Given the description of an element on the screen output the (x, y) to click on. 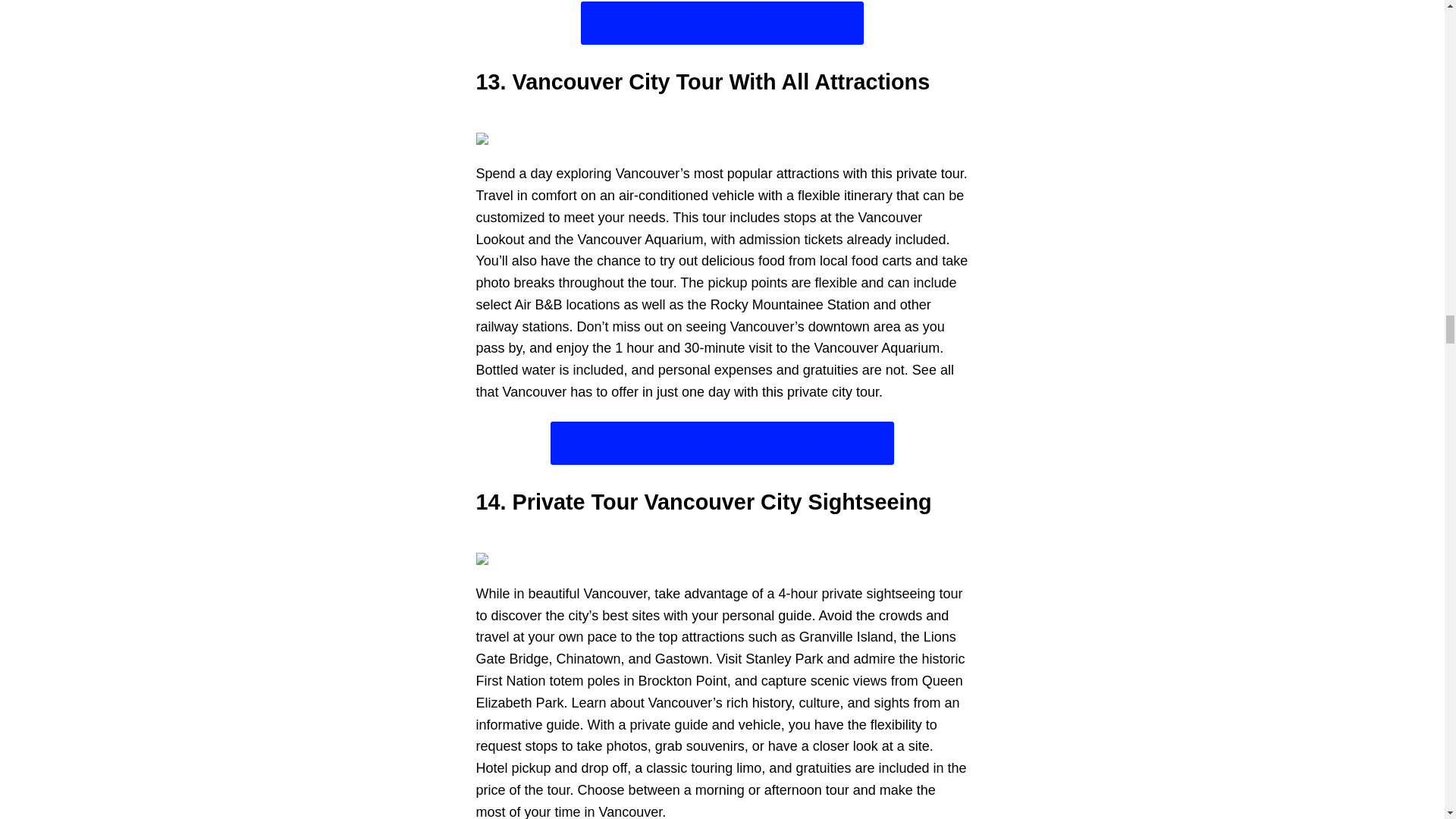
Check out Vancouver City Tour With All Attractions (721, 443)
Check out Vancouver City Highlight Tour (721, 23)
